Given the description of an element on the screen output the (x, y) to click on. 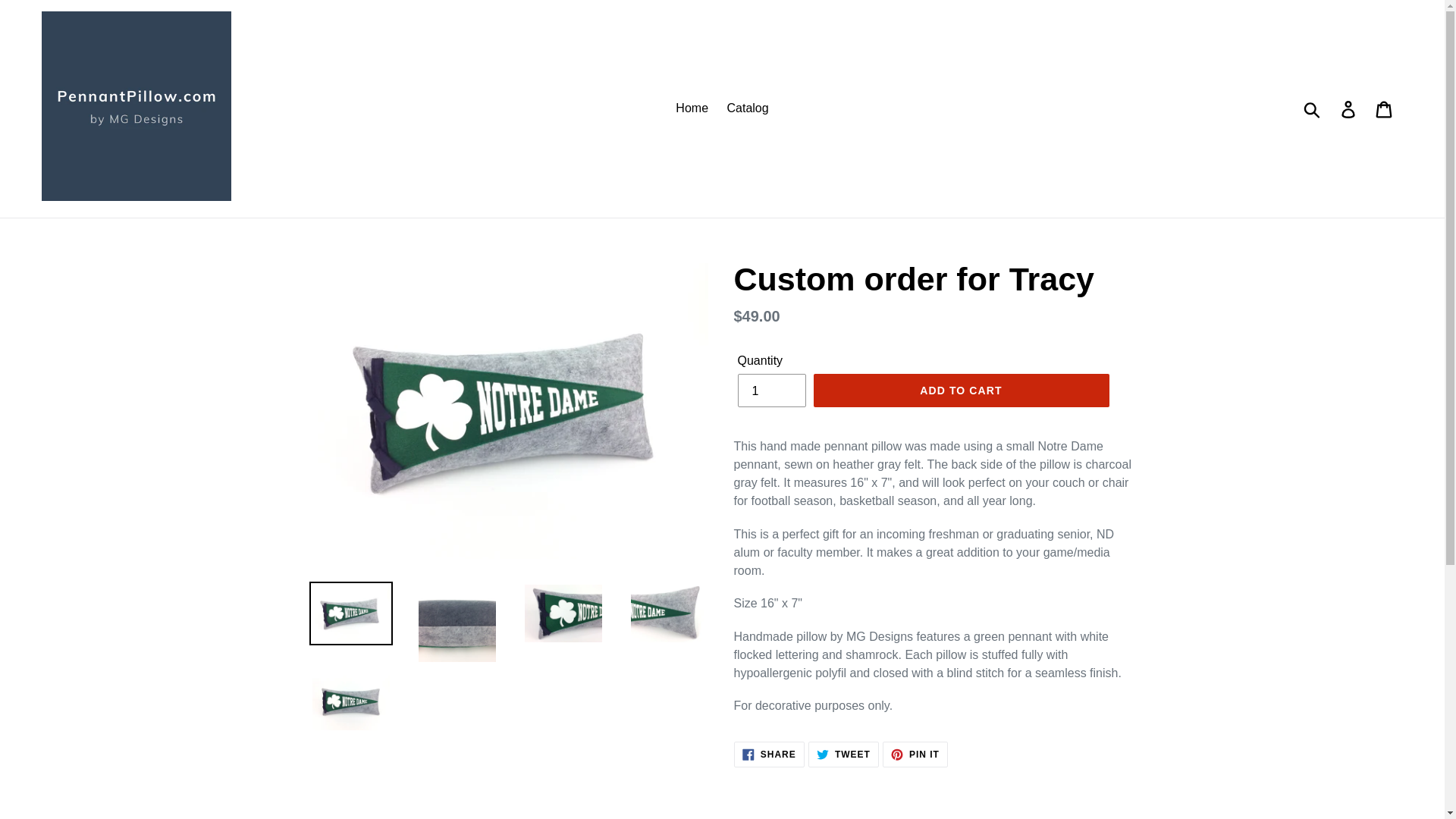
Submit (1313, 108)
Home (769, 754)
1 (692, 108)
ADD TO CART (770, 390)
Catalog (914, 754)
Cart (960, 390)
Log in (747, 108)
